Given the description of an element on the screen output the (x, y) to click on. 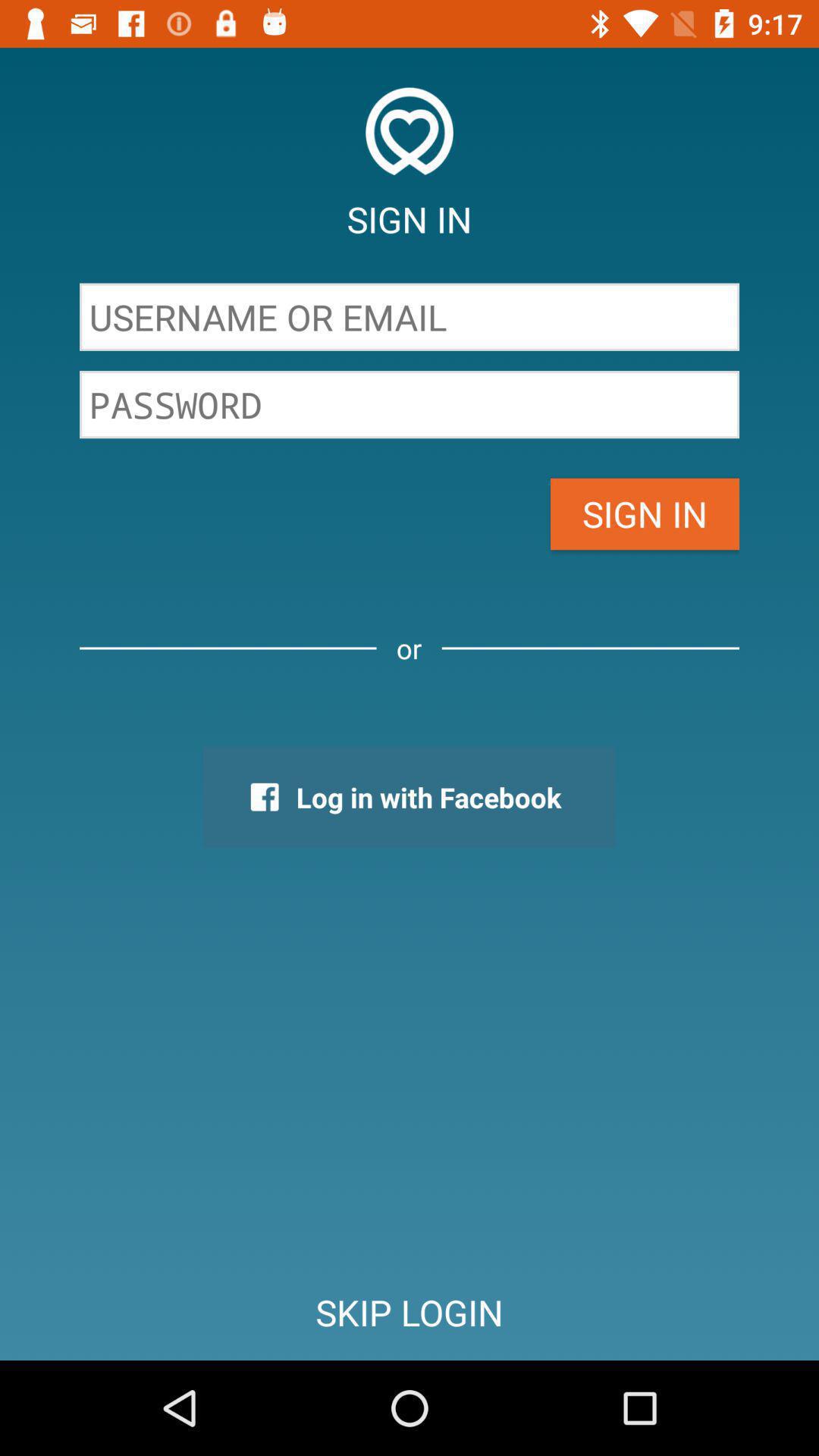
turn on skip login icon (409, 1312)
